Given the description of an element on the screen output the (x, y) to click on. 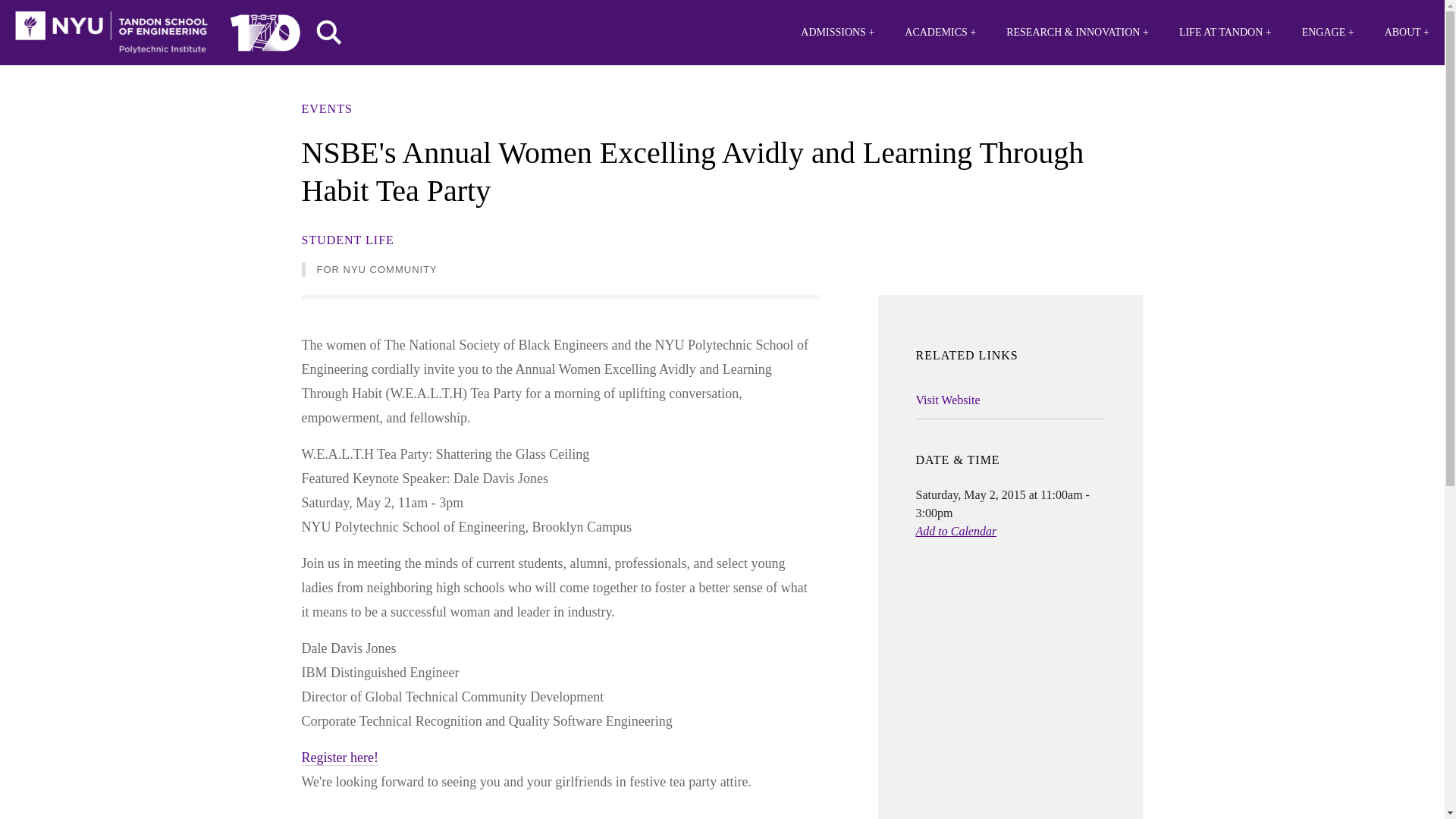
NYU Tandon Logo (111, 32)
NYU Tandon School of Engineering - Polytechnic Institute (111, 32)
NYU Tandon Anniversary (264, 29)
